Given the description of an element on the screen output the (x, y) to click on. 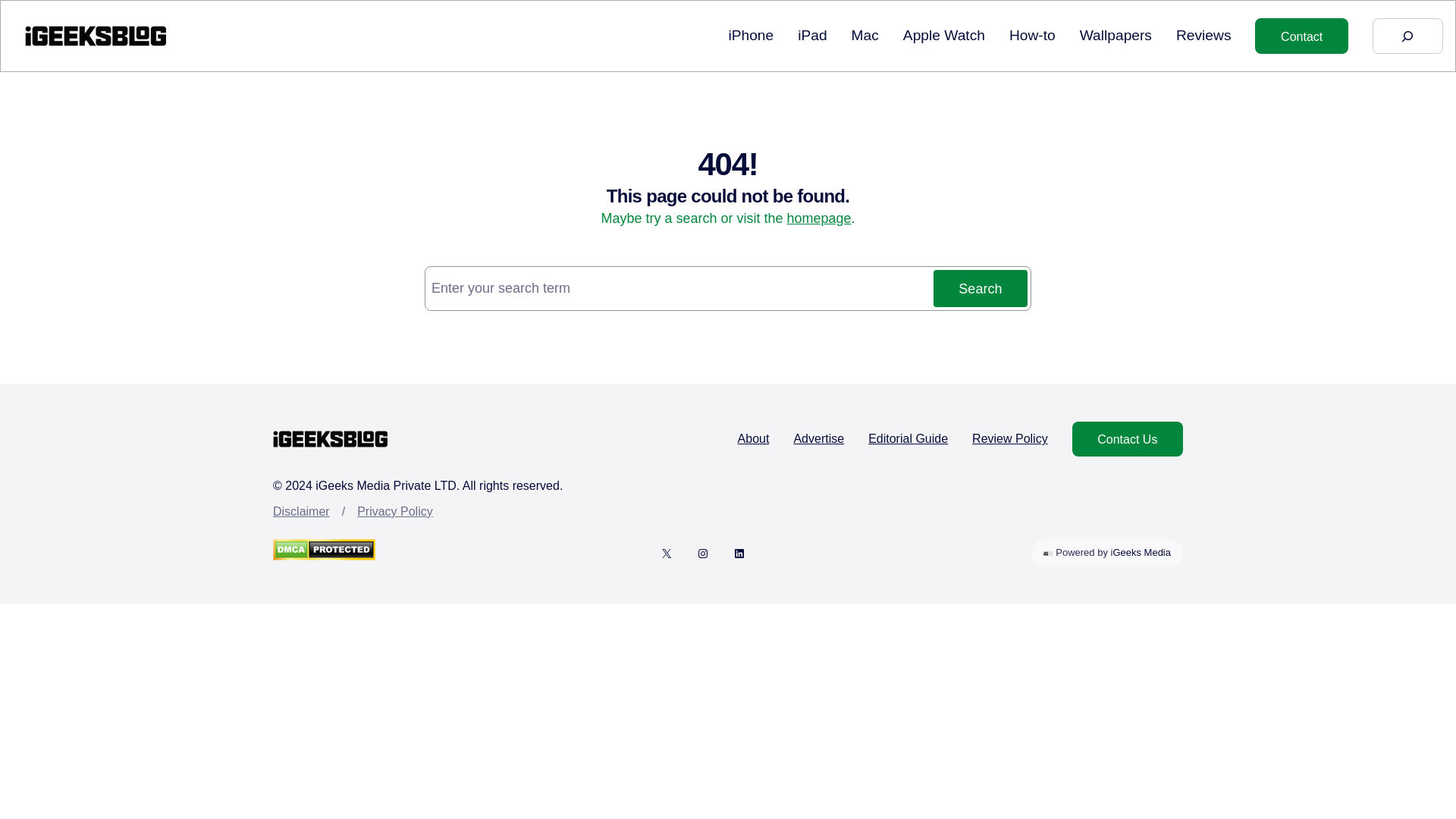
How-to (1032, 35)
Review Policy (1010, 438)
DMCA.com Protection Status (324, 552)
iPhone (750, 35)
Editorial Guide (907, 438)
Privacy Policy (394, 511)
LinkedIn (739, 553)
X (666, 553)
homepage (819, 218)
Contact (1301, 35)
Disclaimer (1106, 552)
Mac (301, 511)
About (865, 35)
Advertise (754, 438)
